Given the description of an element on the screen output the (x, y) to click on. 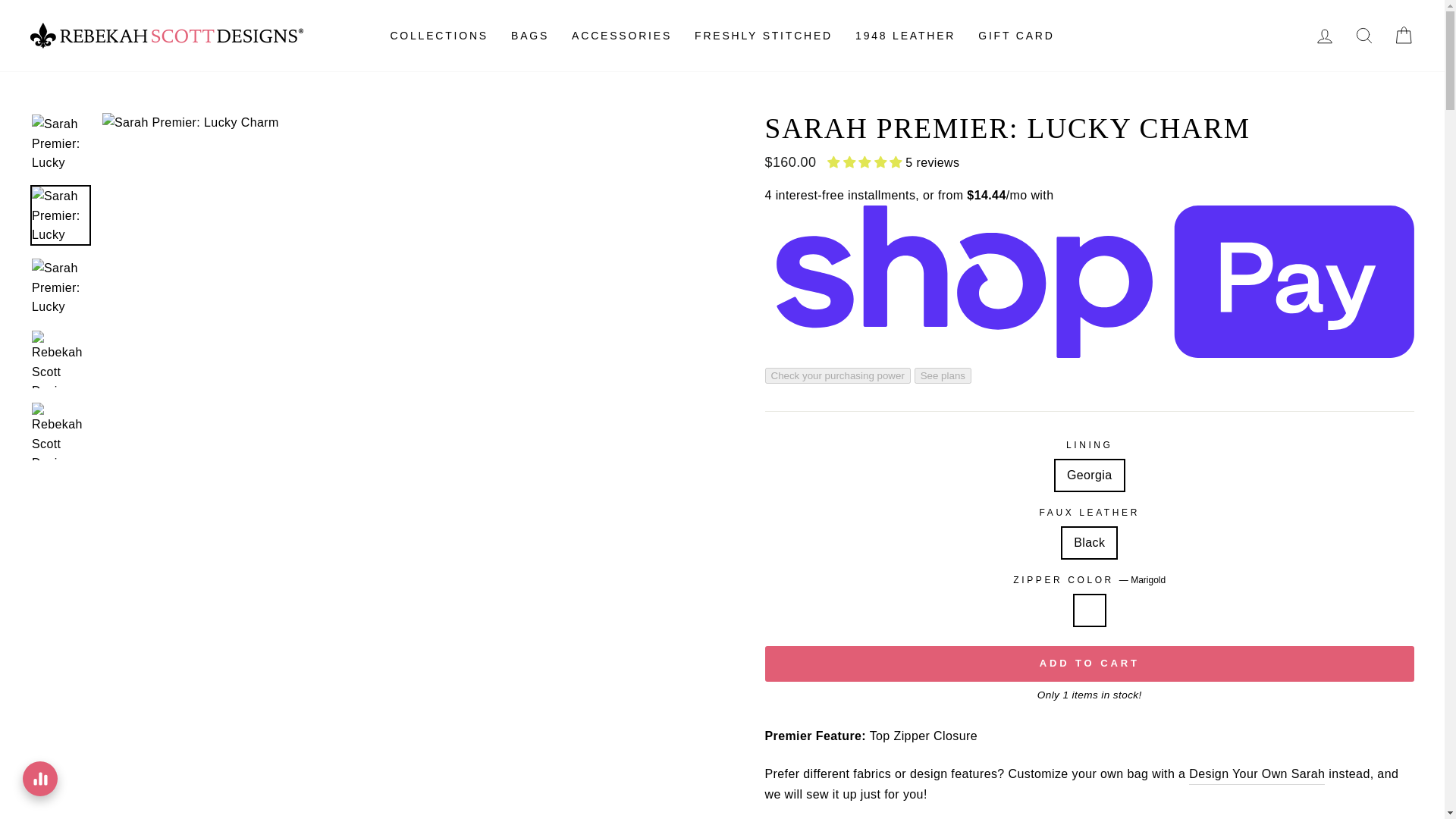
Design Your Own Sarah (1256, 774)
